Given the description of an element on the screen output the (x, y) to click on. 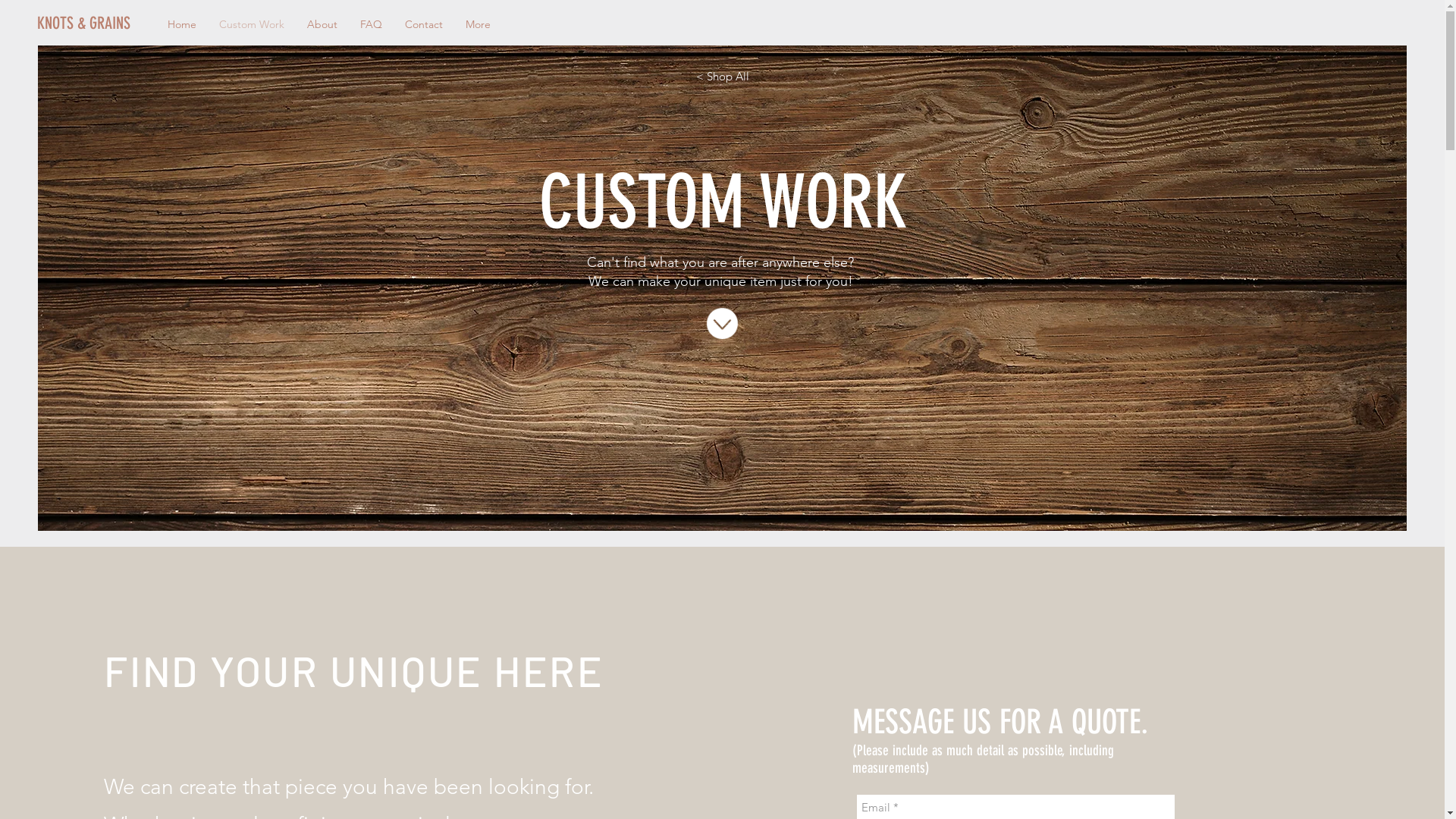
Custom Work Element type: text (251, 24)
Home Element type: text (181, 24)
FAQ Element type: text (370, 24)
< Shop All Element type: text (722, 75)
KNOTS & GRAINS Element type: text (88, 23)
About Element type: text (321, 24)
Contact Element type: text (423, 24)
